Given the description of an element on the screen output the (x, y) to click on. 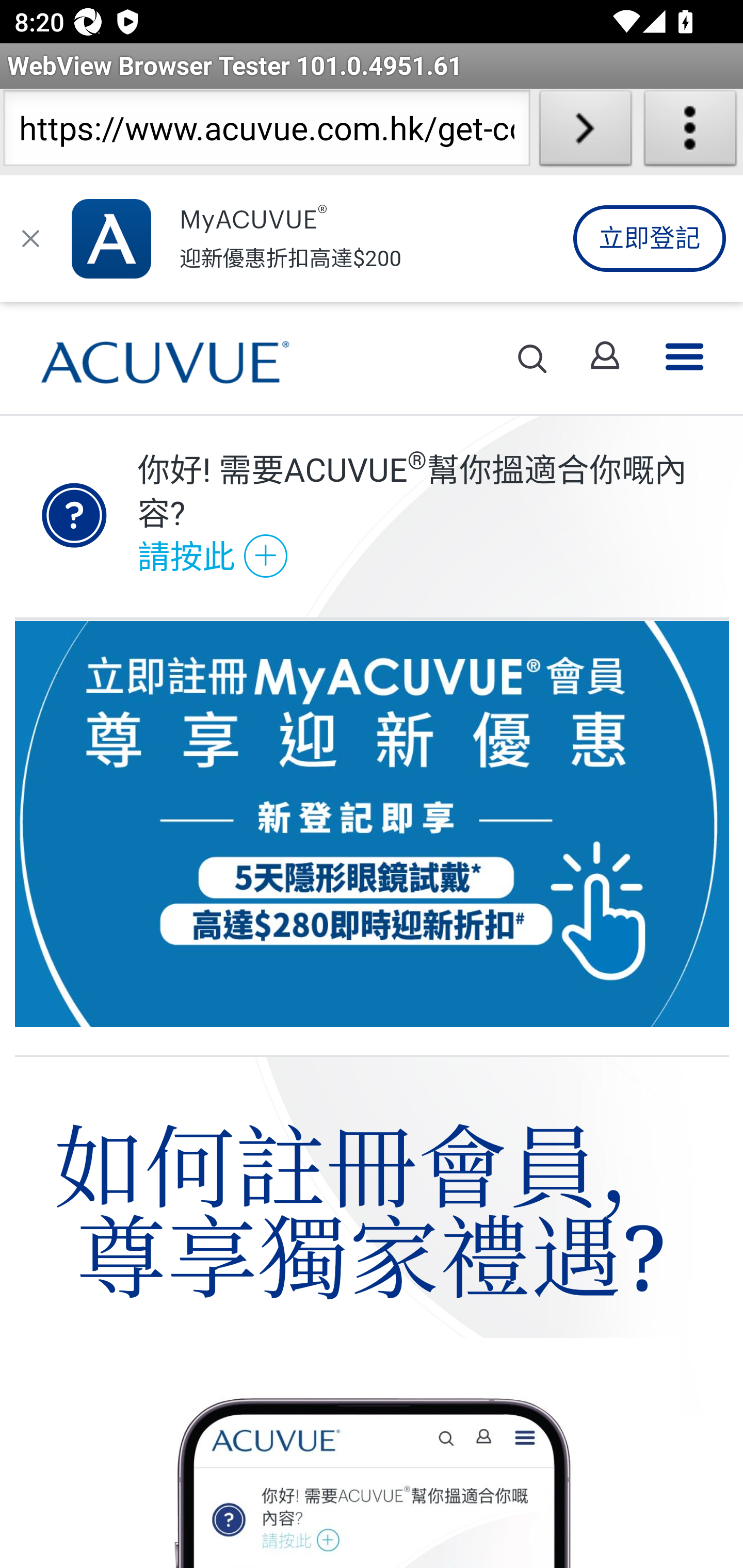
Load URL (585, 132)
About WebView (690, 132)
立即登記 (649, 237)
 (30, 237)
Click to expand mobile menu  主頁 主頁 搜尋   搜尋  (371, 359)
主頁 (164, 357)
搜尋   搜尋  (532, 358)
Click to expand mobile menu  (684, 358)
你好! 需要ACUVUE®幫你搵適合你嘅內容? 請按此 (371, 516)
你好! 需要ACUVUE®幫你搵適合你嘅內容? 請按此 (426, 515)
myacuvue-canvas-banner_r02.jpg <br /> (372, 837)
myacuvue-iphone-pages_20230612_v02-1_5 (372, 1452)
